Given the description of an element on the screen output the (x, y) to click on. 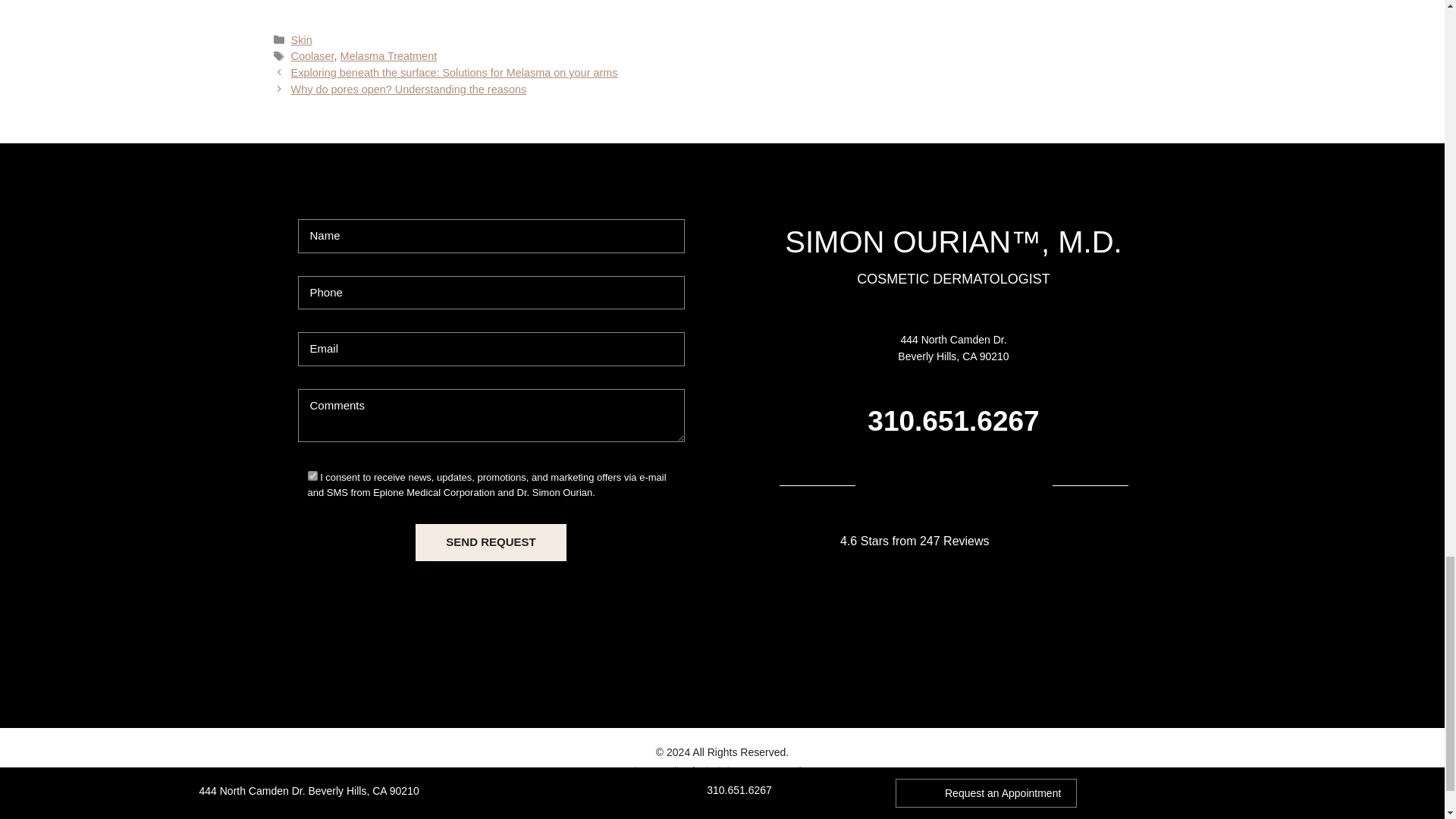
Previous (454, 72)
1 (312, 475)
Next (409, 89)
SEND REQUEST (490, 542)
